Given the description of an element on the screen output the (x, y) to click on. 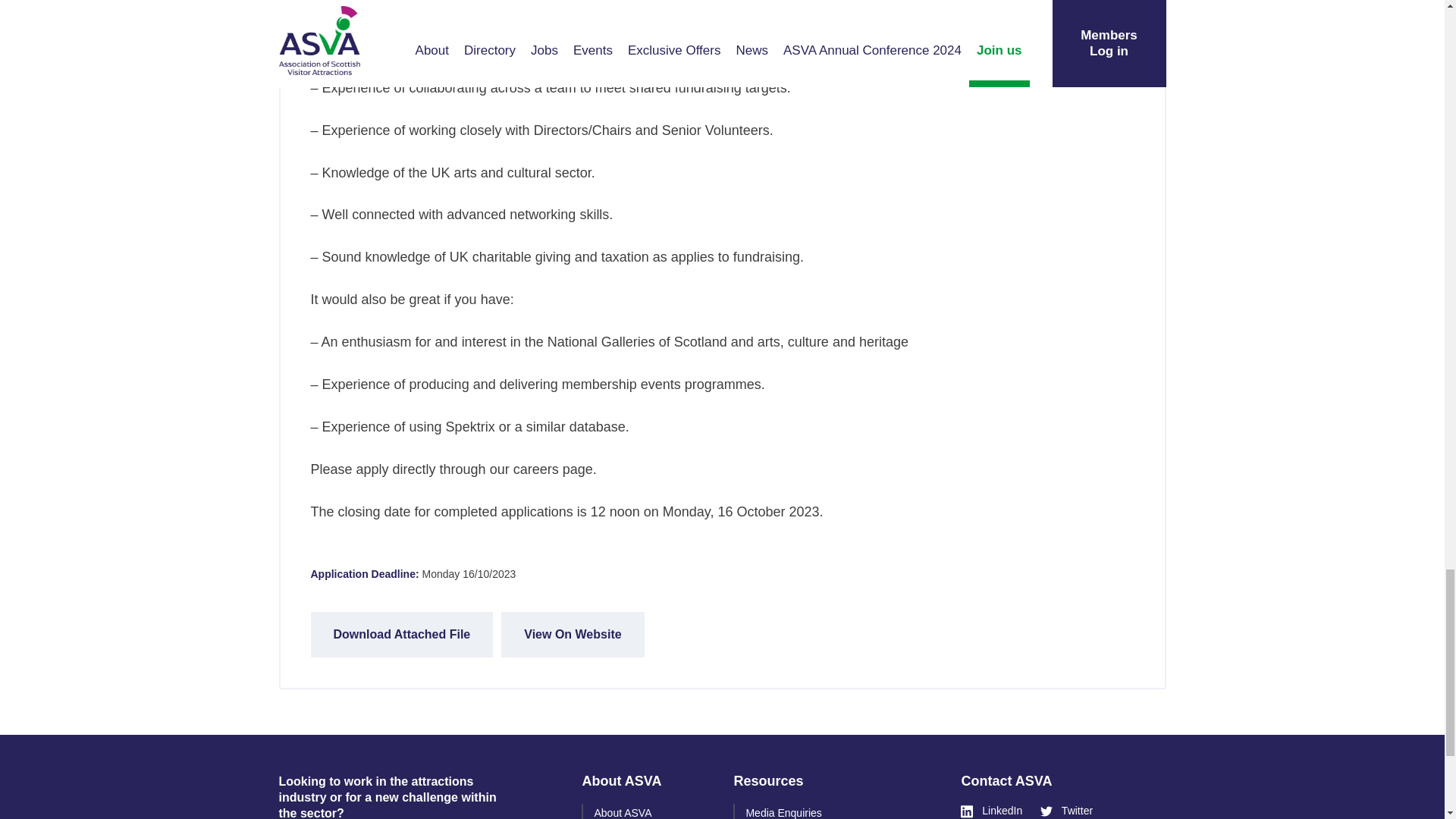
LinkedIn (991, 810)
Download Attached File (402, 634)
View On Website (571, 634)
Twitter (1067, 810)
Media Enquiries (783, 812)
About ASVA (622, 812)
